Given the description of an element on the screen output the (x, y) to click on. 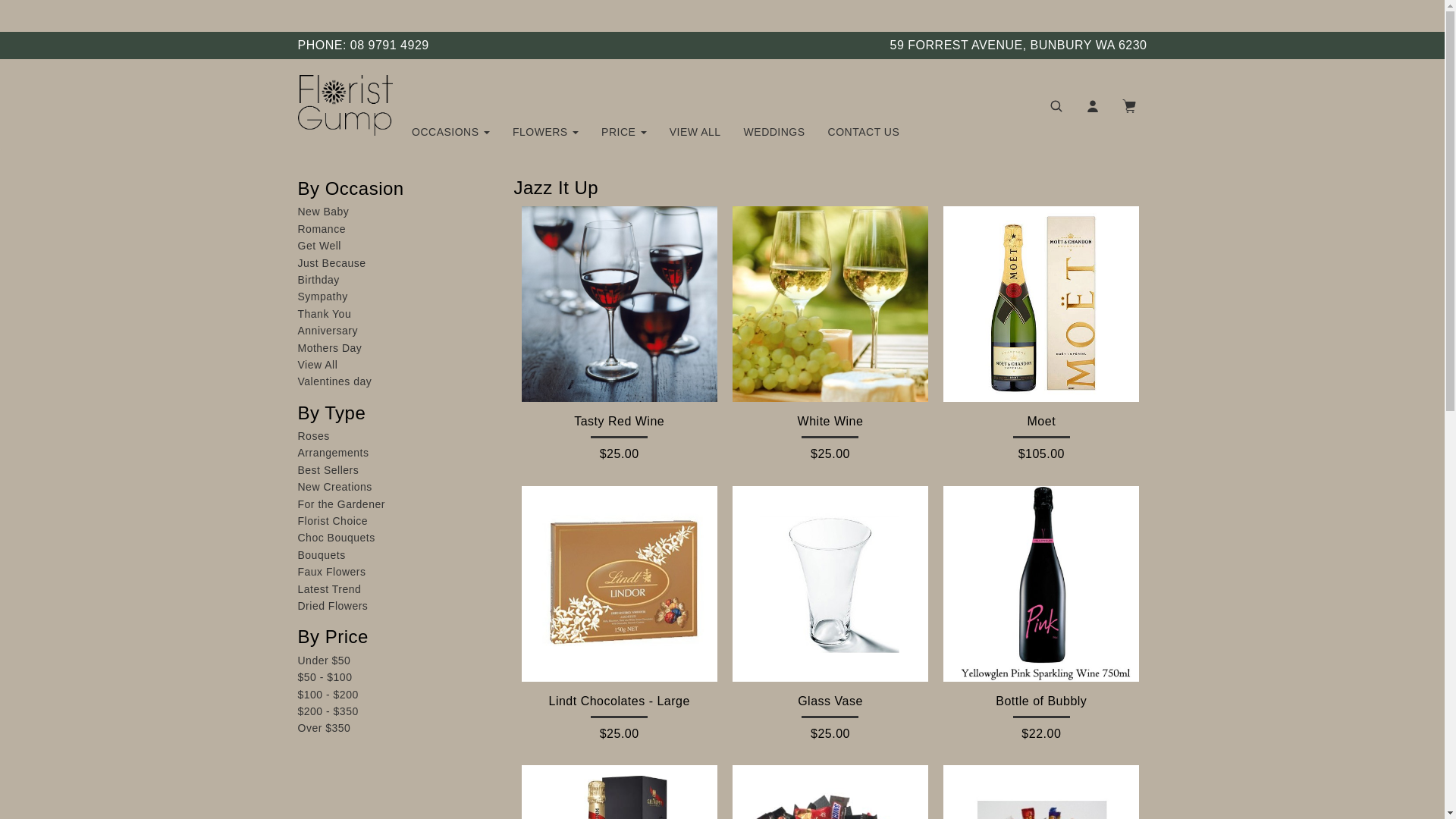
PRICE Element type: text (623, 131)
View All Element type: text (317, 364)
Roses Element type: text (313, 435)
Arrangements Element type: text (332, 452)
Choc Bouquets Element type: text (335, 537)
Bouquets Element type: text (321, 555)
Mothers Day Element type: text (329, 348)
Lindt Chocolates - Large Element type: hover (619, 583)
Over $350 Element type: text (323, 727)
Birthday Element type: text (317, 279)
For the Gardener Element type: text (340, 504)
By Type Element type: text (331, 412)
New Creations Element type: text (334, 486)
Just Because Element type: text (331, 263)
By Occasion Element type: text (350, 188)
08 9791 4929 Element type: text (389, 44)
$200 - $350 Element type: text (327, 711)
Anniversary Element type: text (327, 330)
Dried Flowers Element type: text (332, 605)
FLOWERS Element type: text (545, 131)
Latest Trend Element type: text (328, 589)
OCCASIONS Element type: text (450, 131)
VIEW ALL Element type: text (695, 131)
$100 - $200 Element type: text (327, 694)
Faux Flowers Element type: text (331, 571)
Get Well Element type: text (318, 245)
Glass Vase Element type: hover (830, 583)
White Wine Element type: hover (830, 303)
Romance Element type: text (321, 228)
Bottle of Bubbly Element type: hover (1041, 583)
Valentines day Element type: text (334, 381)
Under $50 Element type: text (323, 660)
Moet Element type: hover (1041, 303)
Sympathy Element type: text (322, 296)
Tasty Red Wine Element type: hover (619, 303)
$50 - $100 Element type: text (324, 677)
CONTACT US Element type: text (863, 131)
By Price Element type: text (332, 636)
Thank You Element type: text (324, 313)
Florist Choice Element type: text (332, 520)
New Baby Element type: text (322, 211)
WEDDINGS Element type: text (774, 131)
Best Sellers Element type: text (327, 470)
